Given the description of an element on the screen output the (x, y) to click on. 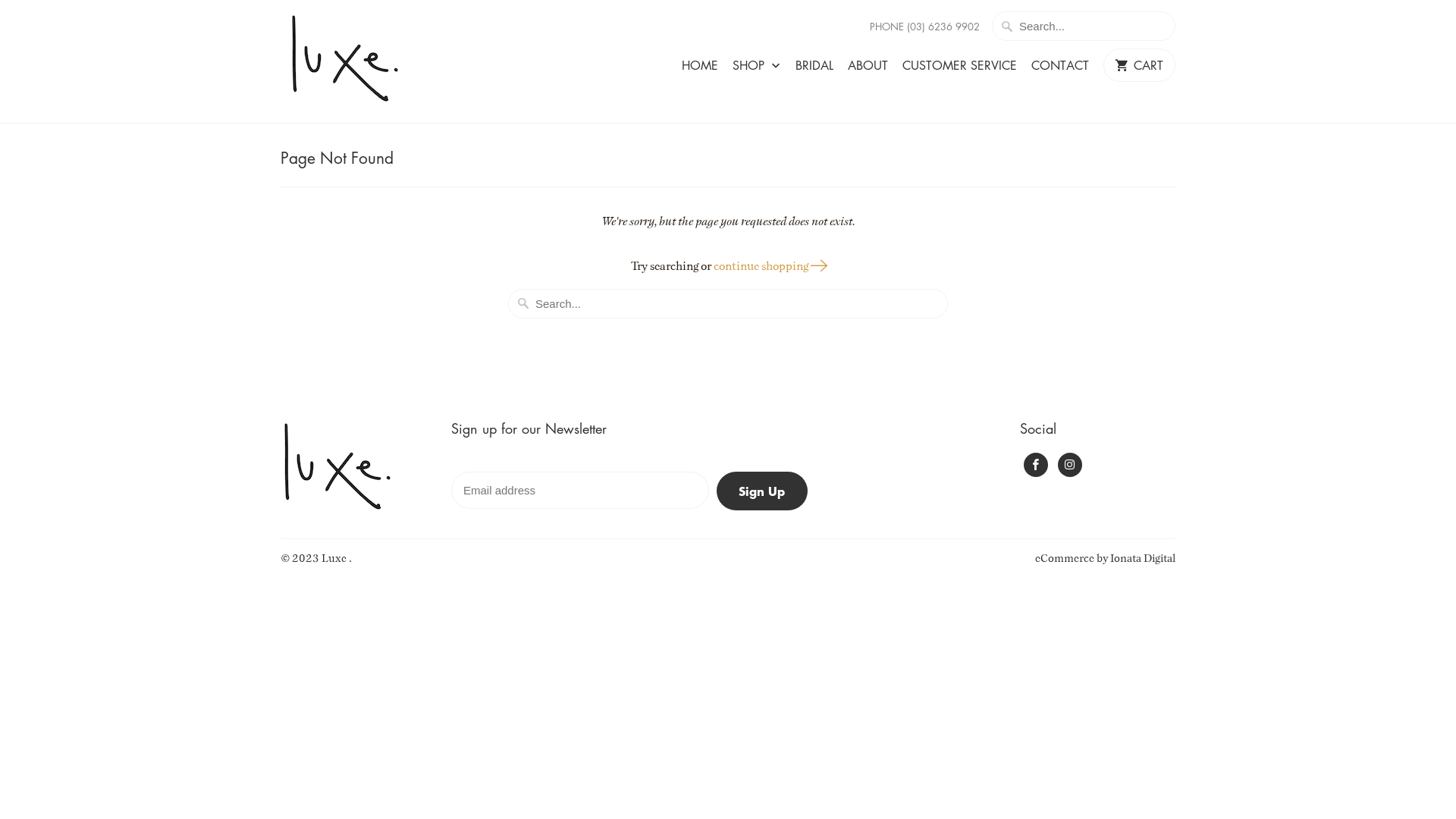
CART Element type: text (1139, 64)
eCommerce by Ionata Digital Element type: text (1105, 557)
Luxe  on Instagram Element type: hover (1069, 464)
Luxe  on Facebook Element type: hover (1035, 464)
HOME Element type: text (699, 68)
CONTACT Element type: text (1059, 68)
SHOP Element type: text (756, 69)
Luxe  Element type: hover (356, 61)
continue shopping Element type: text (769, 265)
BRIDAL Element type: text (814, 68)
ABOUT Element type: text (867, 68)
CUSTOMER SERVICE Element type: text (959, 68)
PHONE (03) 6236 9902 Element type: text (924, 26)
Luxe Element type: text (334, 557)
Sign Up Element type: text (761, 490)
